Given the description of an element on the screen output the (x, y) to click on. 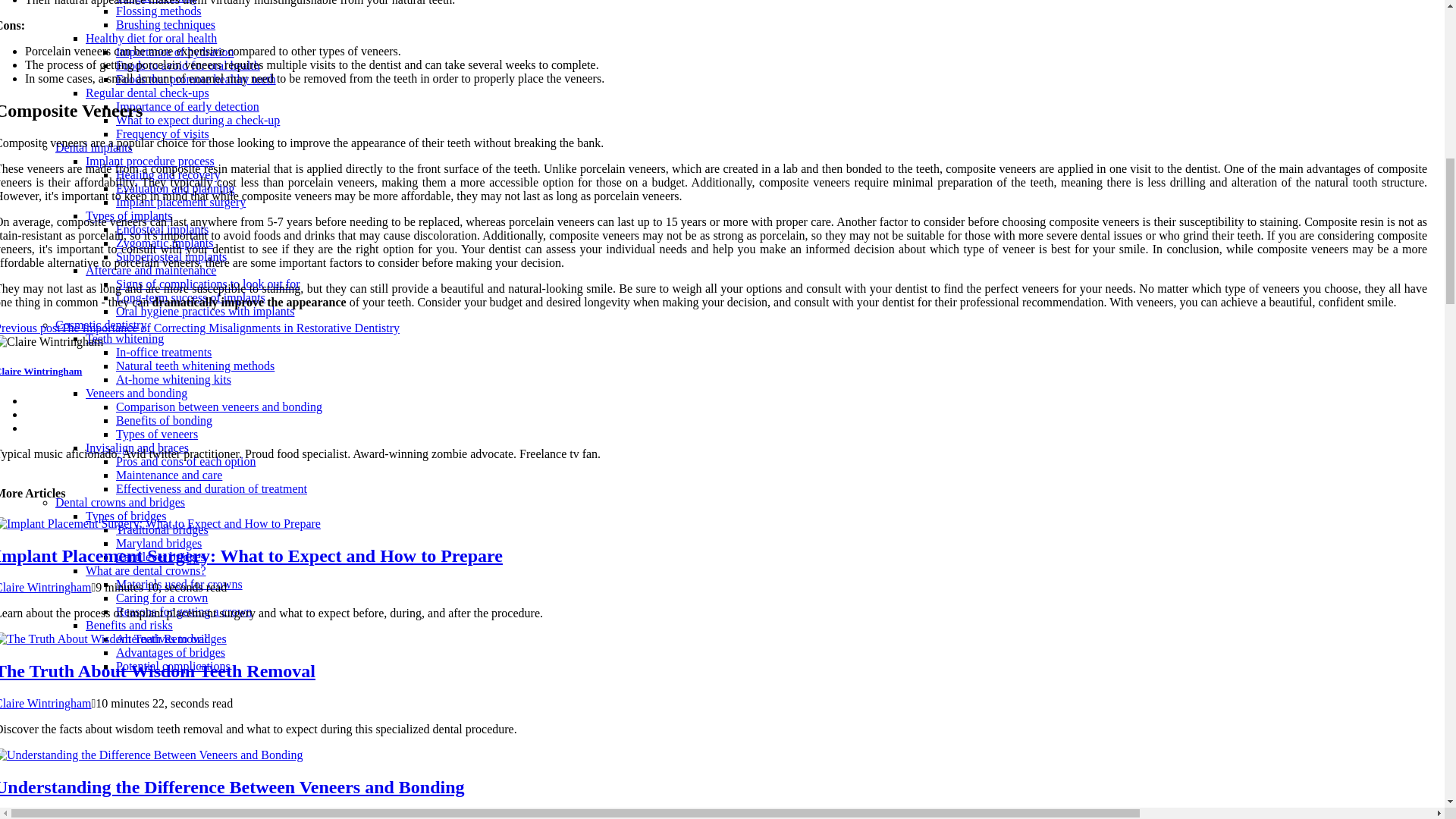
Posts by Claire Wintringham (45, 816)
Posts by Claire Wintringham (45, 703)
Posts by Claire Wintringham (45, 586)
